Given the description of an element on the screen output the (x, y) to click on. 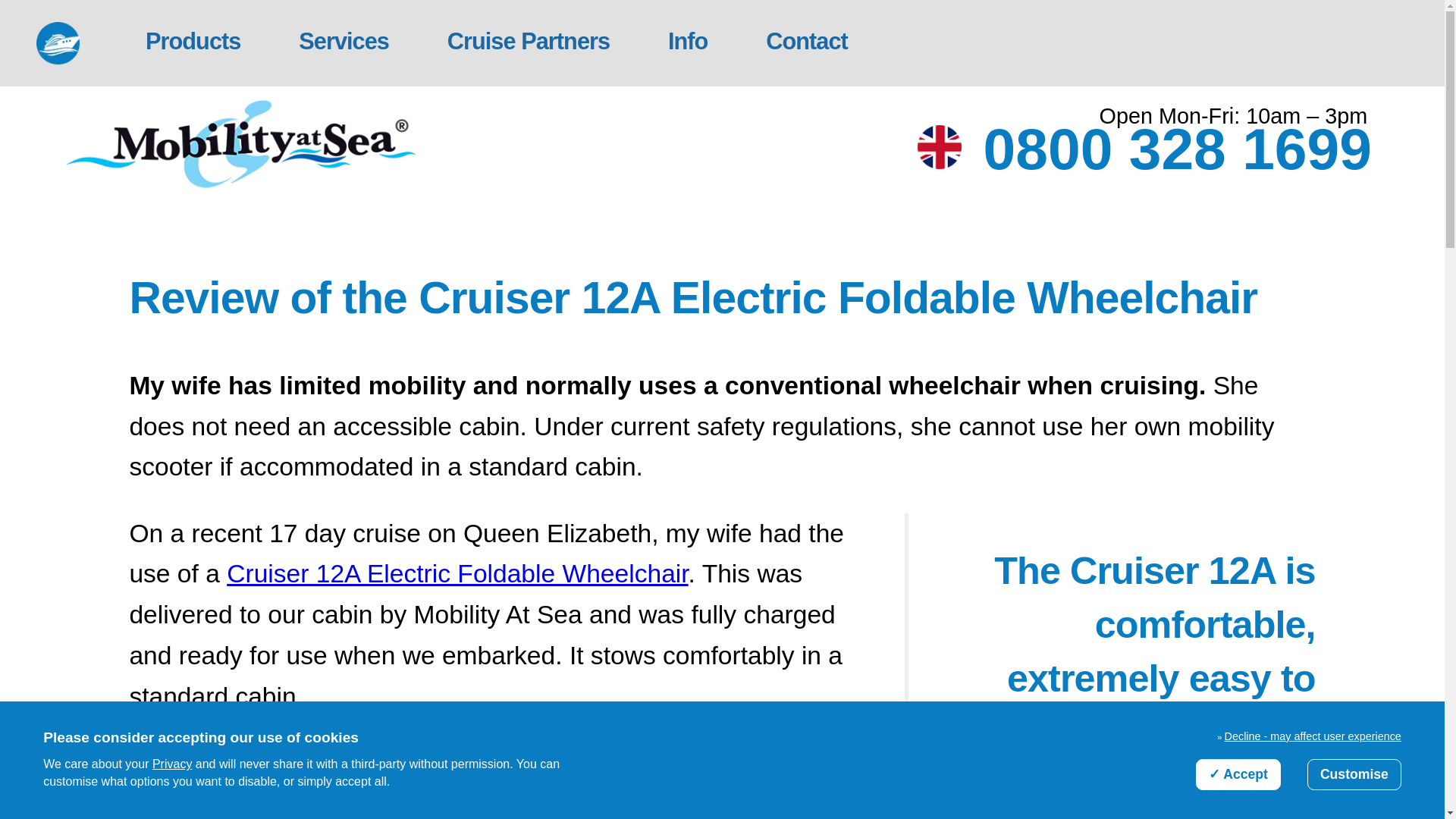
Cruiser 12A Electric Foldable Wheelchair (457, 573)
Contact (806, 42)
Products (192, 42)
Privacy (172, 763)
Cruise Partners (528, 42)
Info (687, 42)
Services (344, 42)
